Given the description of an element on the screen output the (x, y) to click on. 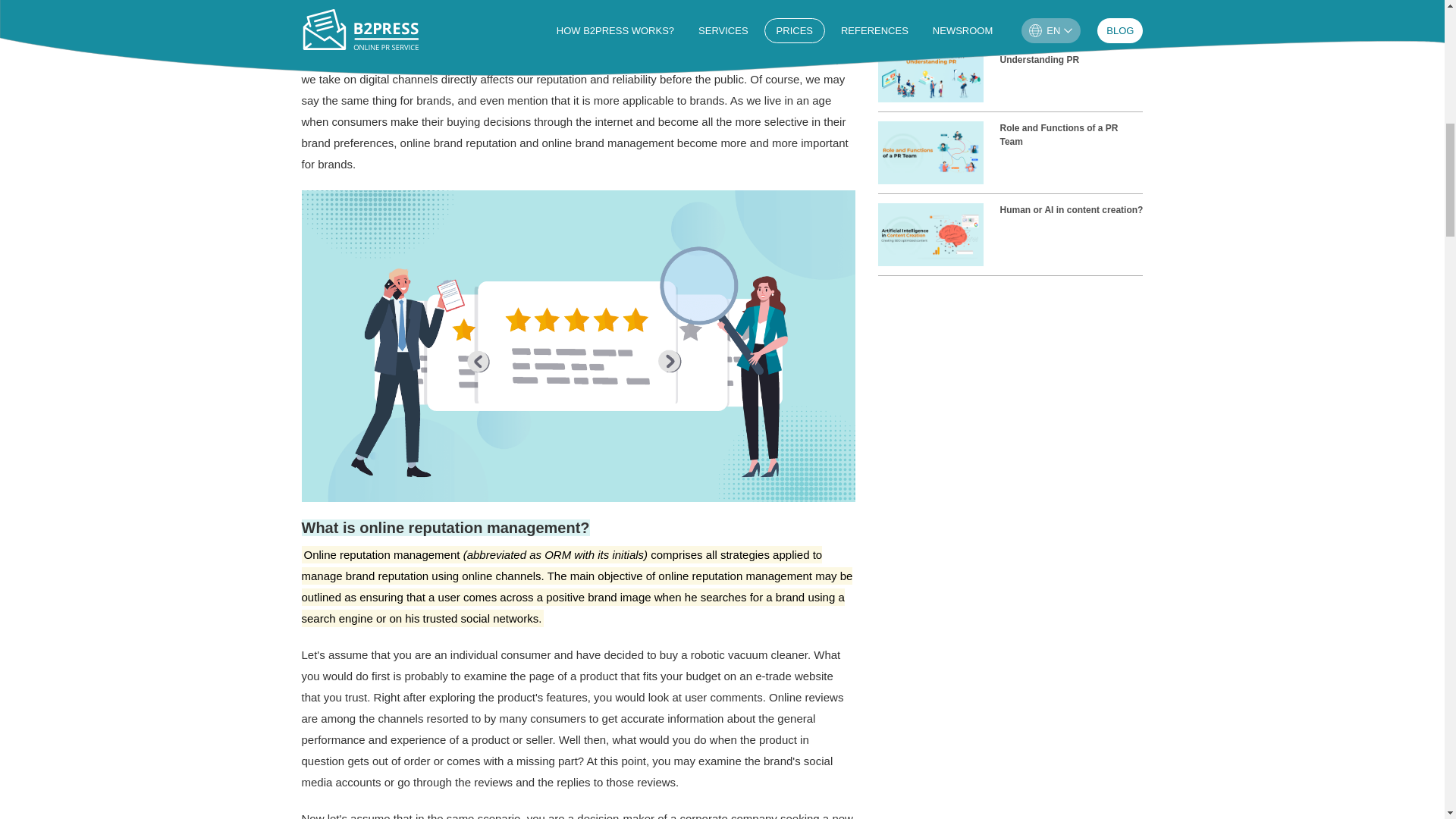
What does PR stand for: Understanding PR (1009, 75)
Role and Functions of a PR Team (1009, 157)
Human or AI in content creation? (1009, 239)
